Given the description of an element on the screen output the (x, y) to click on. 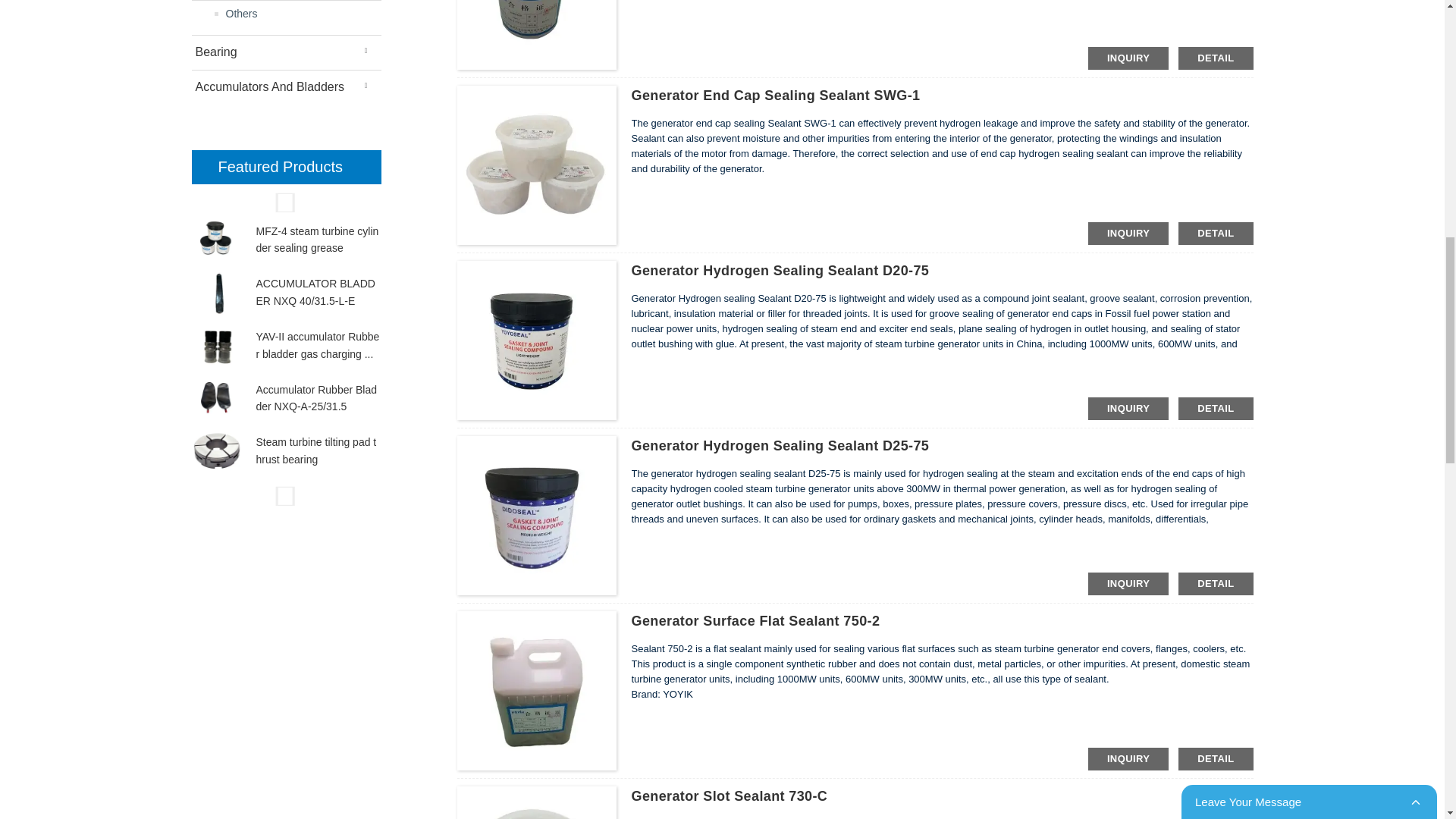
Generator Hydrogen sealing Sealant D20-75 (779, 270)
Generator Hydrogen sealing Sealant D25-75 (779, 445)
Generator slot Sealant 730-C (728, 795)
Generator Surface flat sealant 750-2 (754, 620)
Generator end cap sealing Sealant SWG-1 (775, 95)
